Given the description of an element on the screen output the (x, y) to click on. 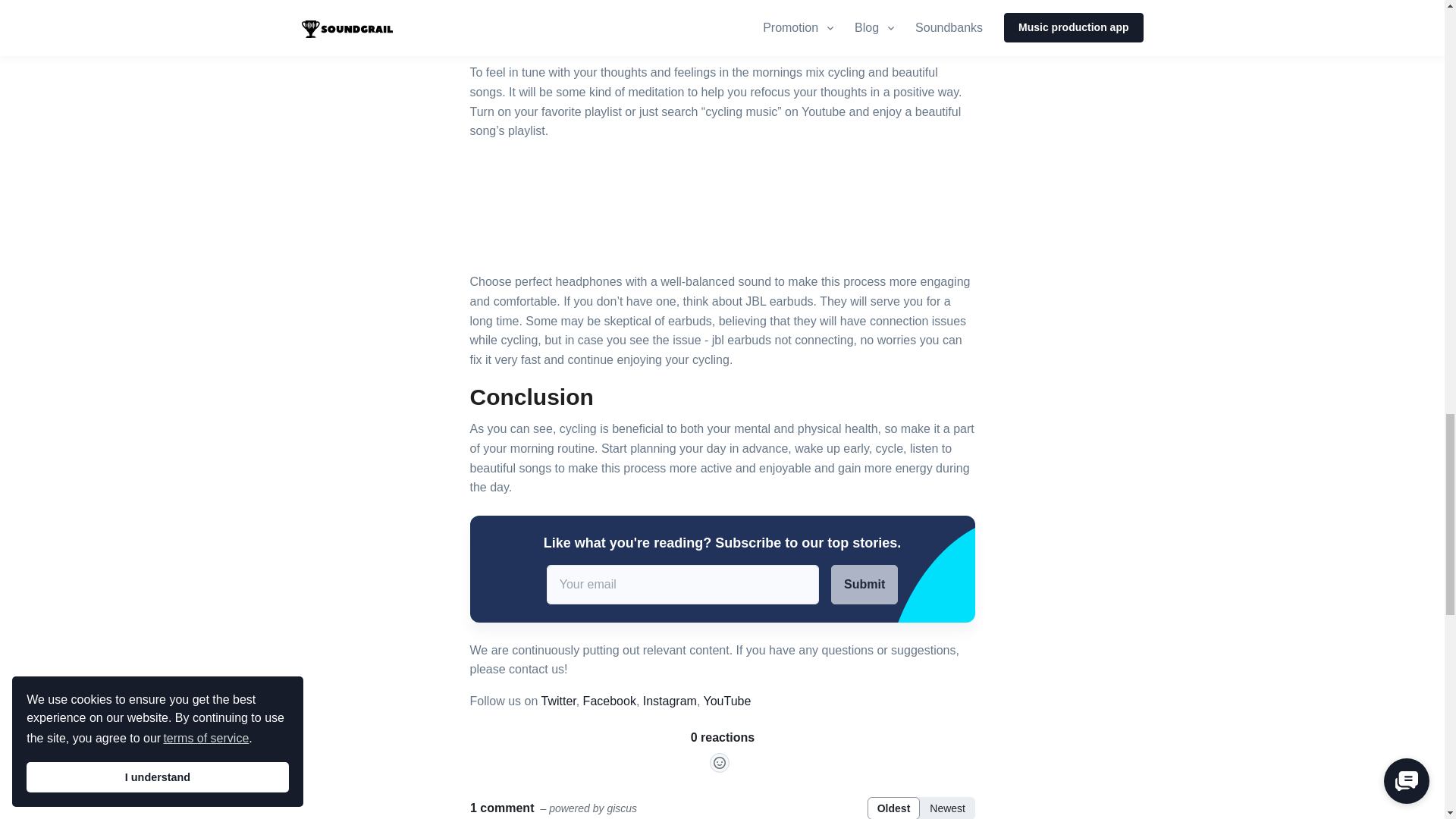
Comments (722, 773)
YouTube (727, 700)
soundcloud on alexa (722, 14)
Facebook (609, 700)
Submit (864, 584)
Twitter (557, 700)
Instagram (670, 700)
